Given the description of an element on the screen output the (x, y) to click on. 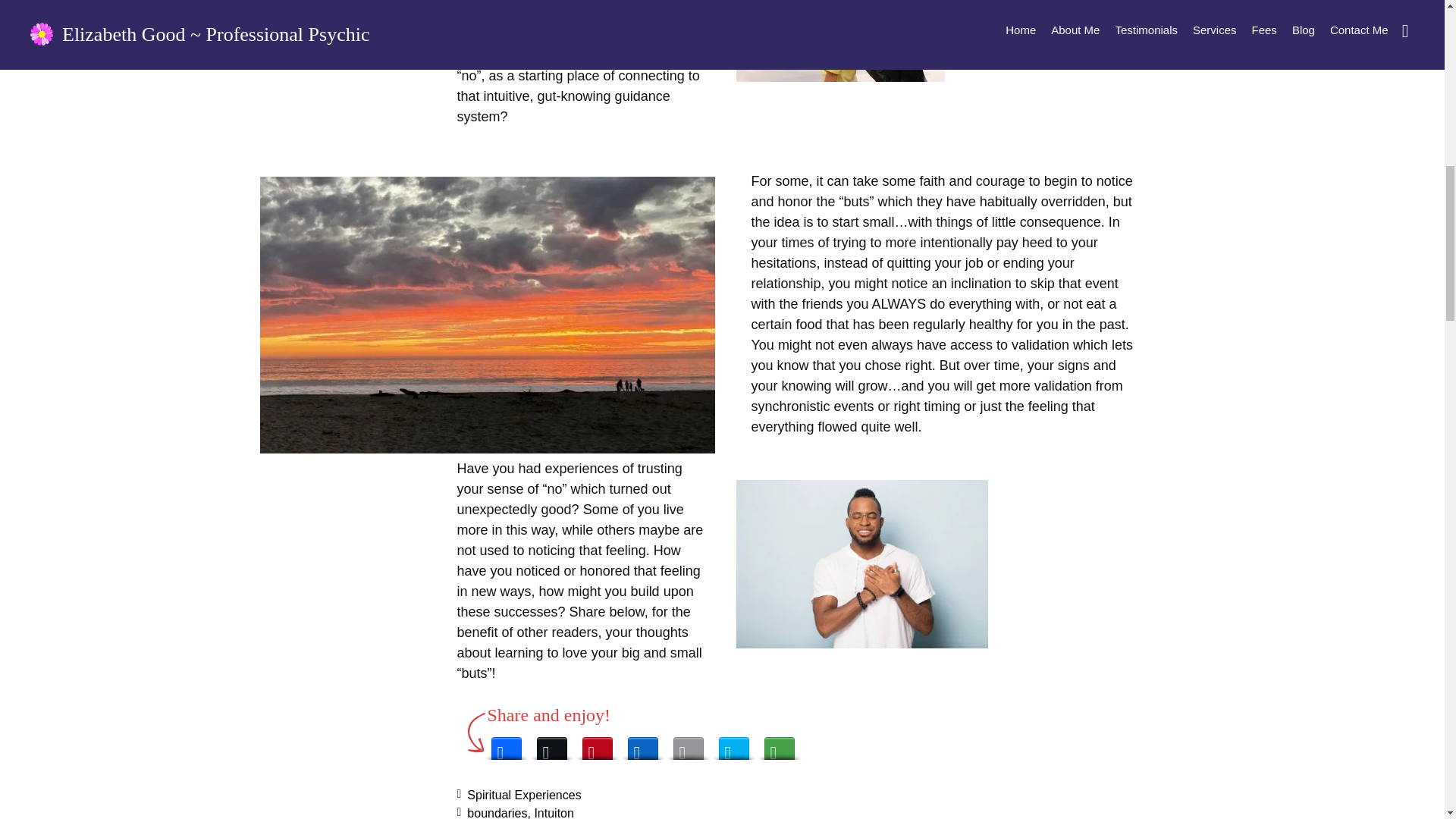
PrintFriendly (734, 744)
Spiritual Experiences (523, 794)
More Options (779, 744)
Facebook (506, 744)
Pinterest (597, 744)
Email This (688, 744)
LinkedIn (642, 744)
